Given the description of an element on the screen output the (x, y) to click on. 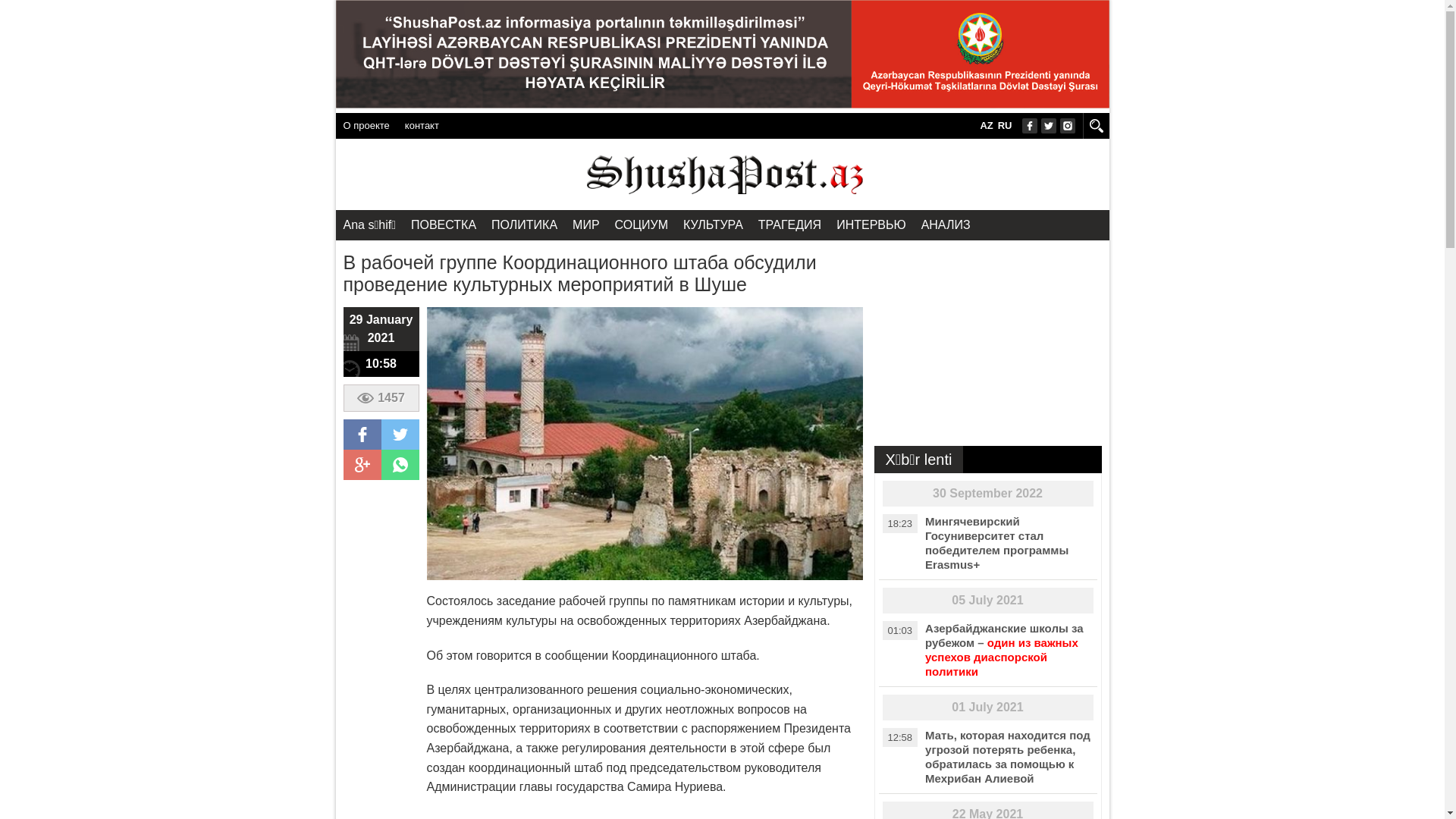
AZ Element type: text (985, 125)
RU Element type: text (1004, 125)
